Given the description of an element on the screen output the (x, y) to click on. 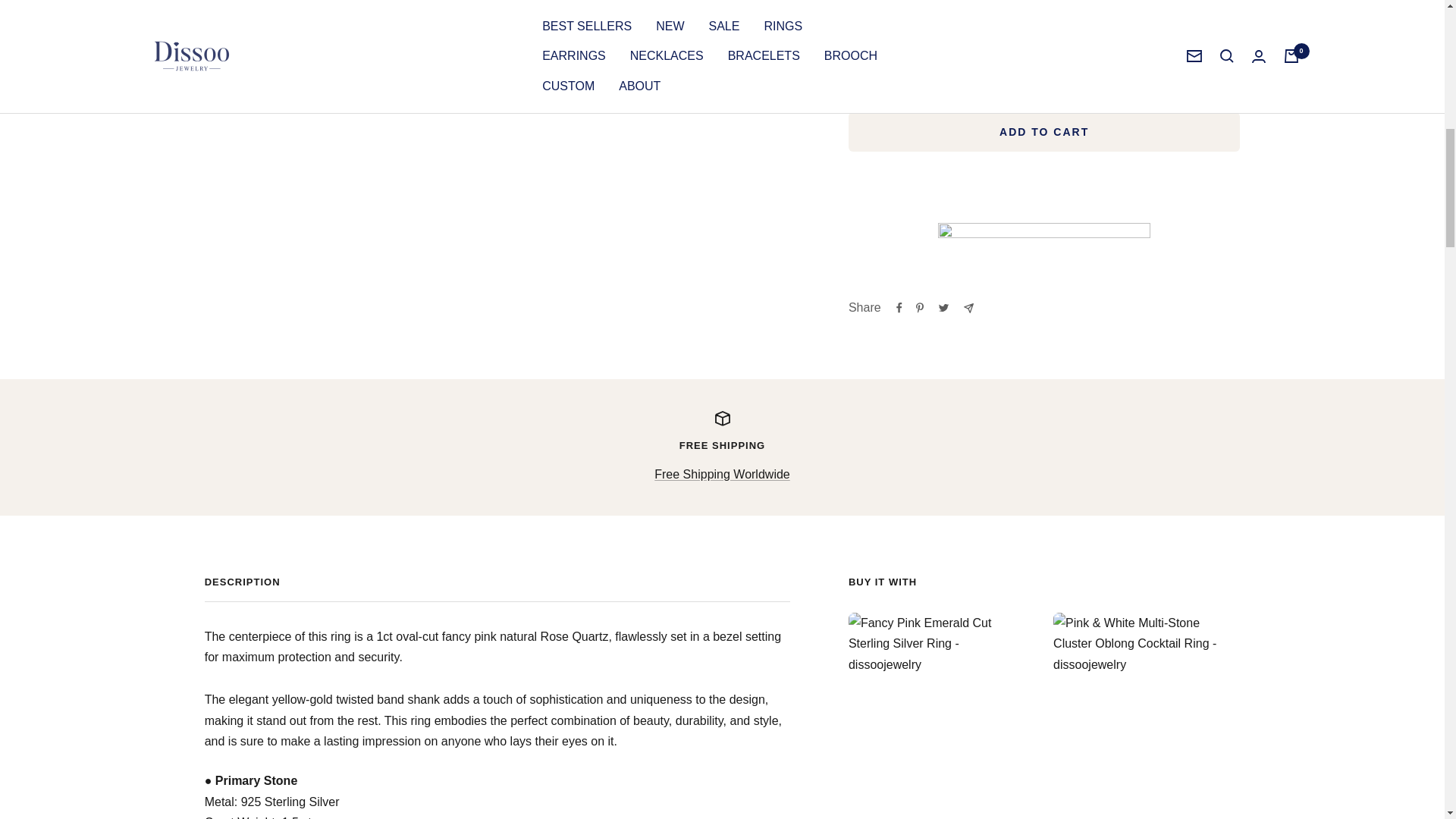
DESCRIPTION (497, 588)
DESCRIPTION (721, 447)
